Given the description of an element on the screen output the (x, y) to click on. 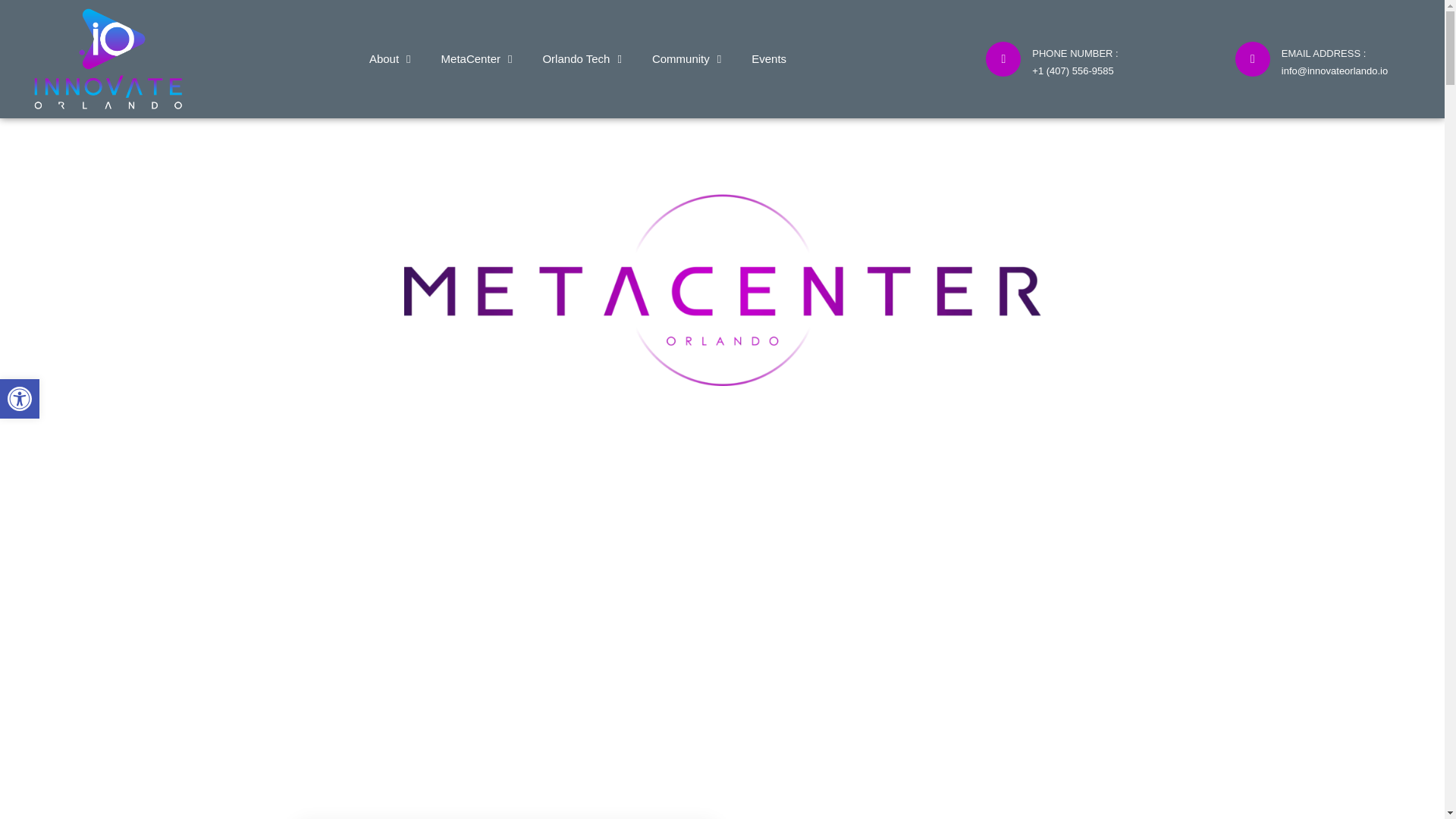
Accessibility Tools (19, 398)
Orlando Tech (581, 59)
MetaCenter (19, 398)
Community (476, 59)
Accessibility Tools (686, 59)
Events (19, 398)
About (768, 59)
